Given the description of an element on the screen output the (x, y) to click on. 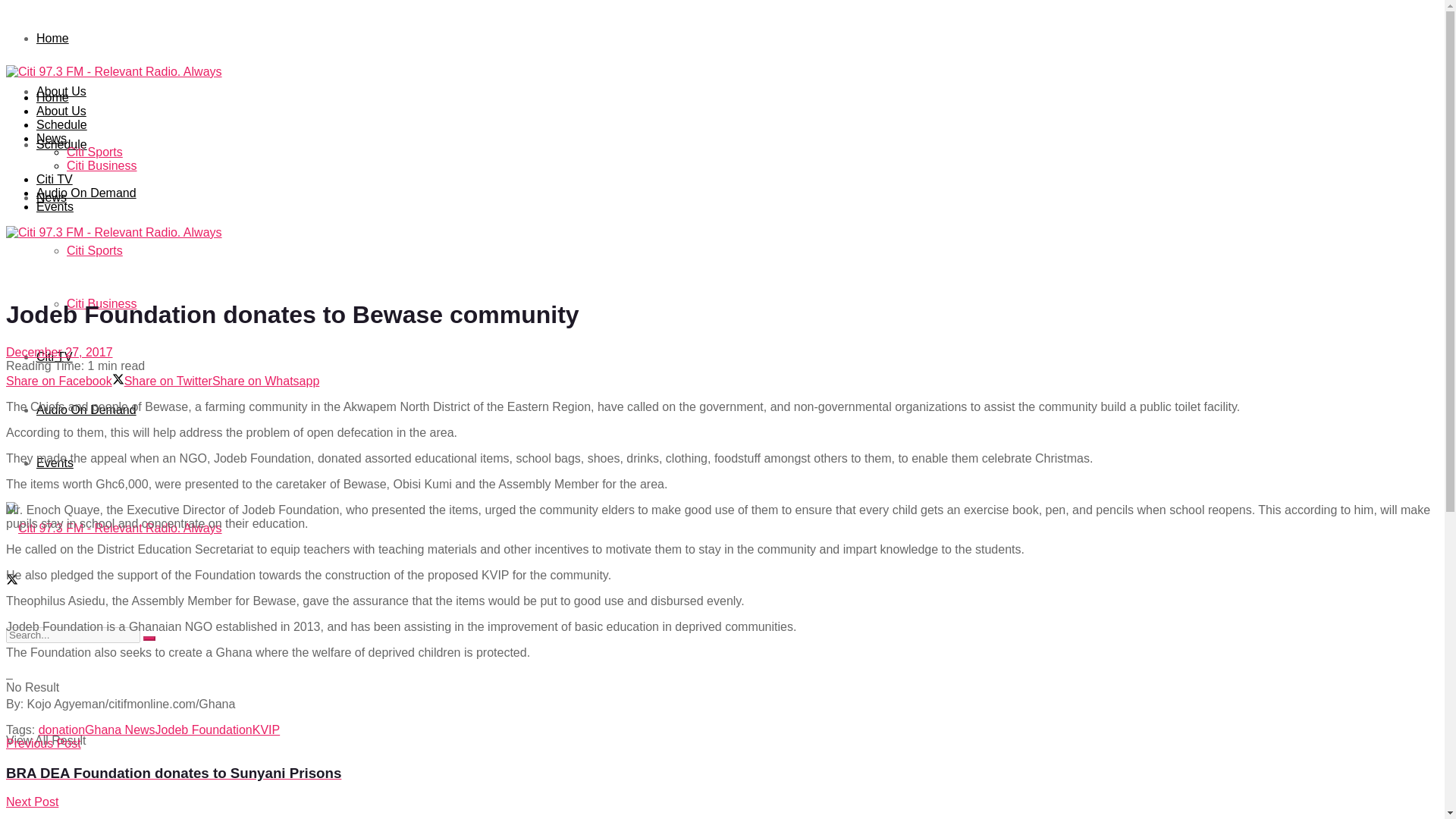
About Us (60, 110)
News (51, 137)
Ghana News (119, 729)
Schedule (61, 124)
Share on Whatsapp (265, 380)
Audio On Demand (86, 192)
Citi TV (54, 356)
Share on Twitter (162, 380)
Citi TV (54, 178)
Audio On Demand (86, 409)
